Given the description of an element on the screen output the (x, y) to click on. 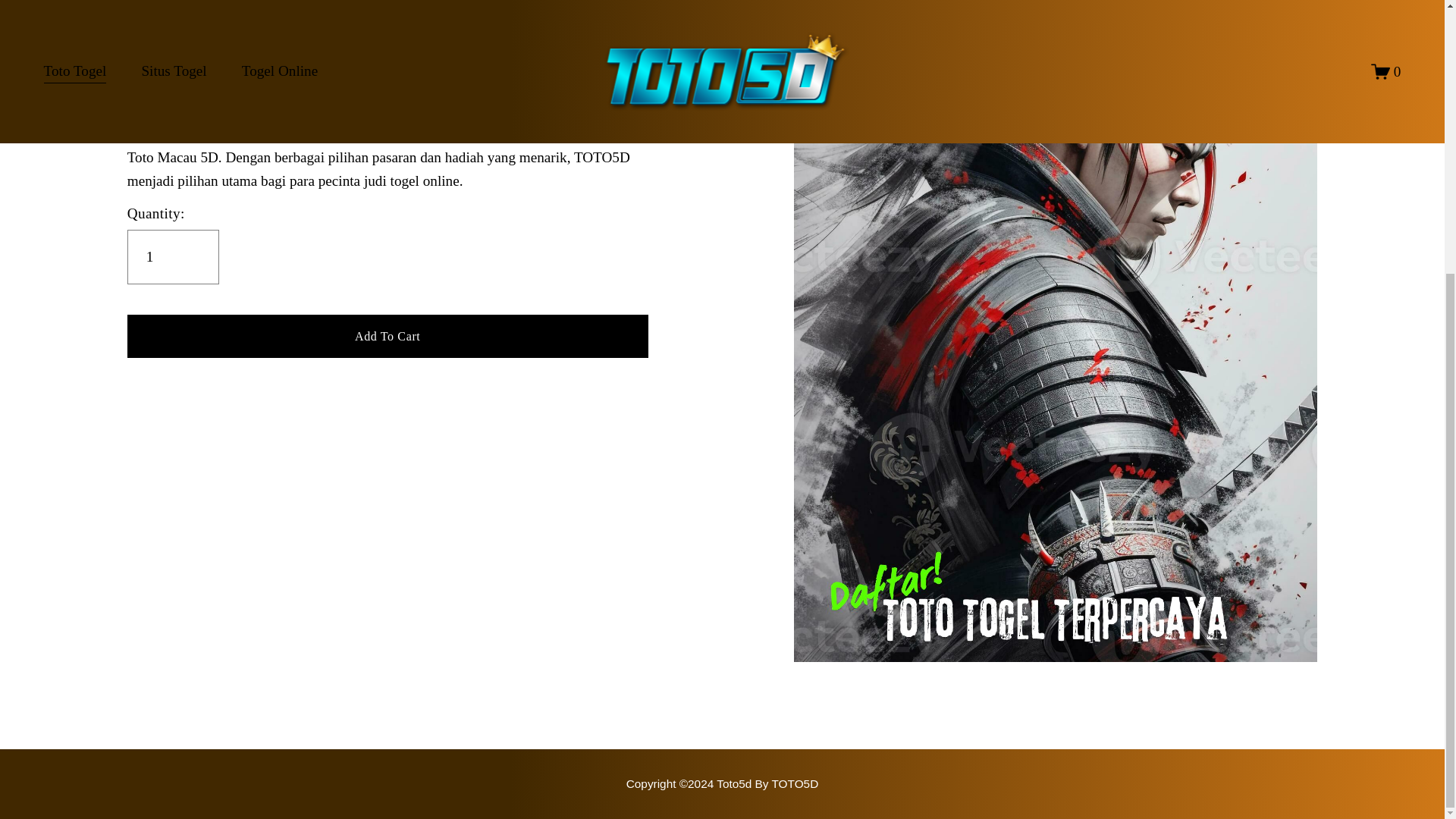
1 (173, 257)
Daftar Slot Online (722, 783)
Add To Cart (387, 335)
